Given the description of an element on the screen output the (x, y) to click on. 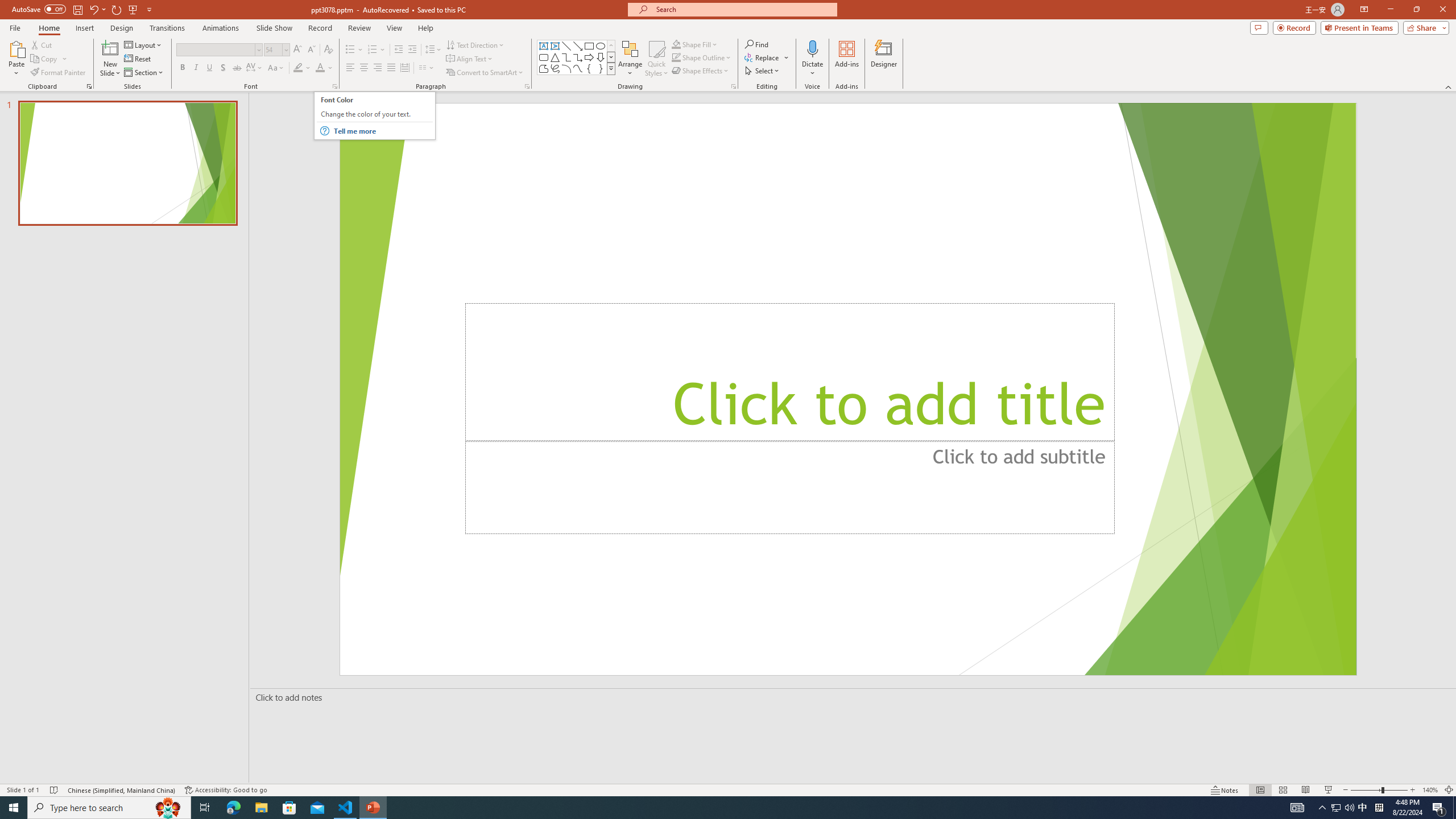
Zoom Out (1366, 790)
Justify (390, 67)
Rectangle (589, 45)
Slide Sorter (1282, 790)
Decrease Font Size (310, 49)
Comments (1259, 27)
Increase Font Size (297, 49)
Shape Fill (694, 44)
Character Spacing (254, 67)
Undo (96, 9)
Arrow: Down (600, 57)
File Tab (15, 27)
New Slide (110, 48)
Designer (883, 58)
